Given the description of an element on the screen output the (x, y) to click on. 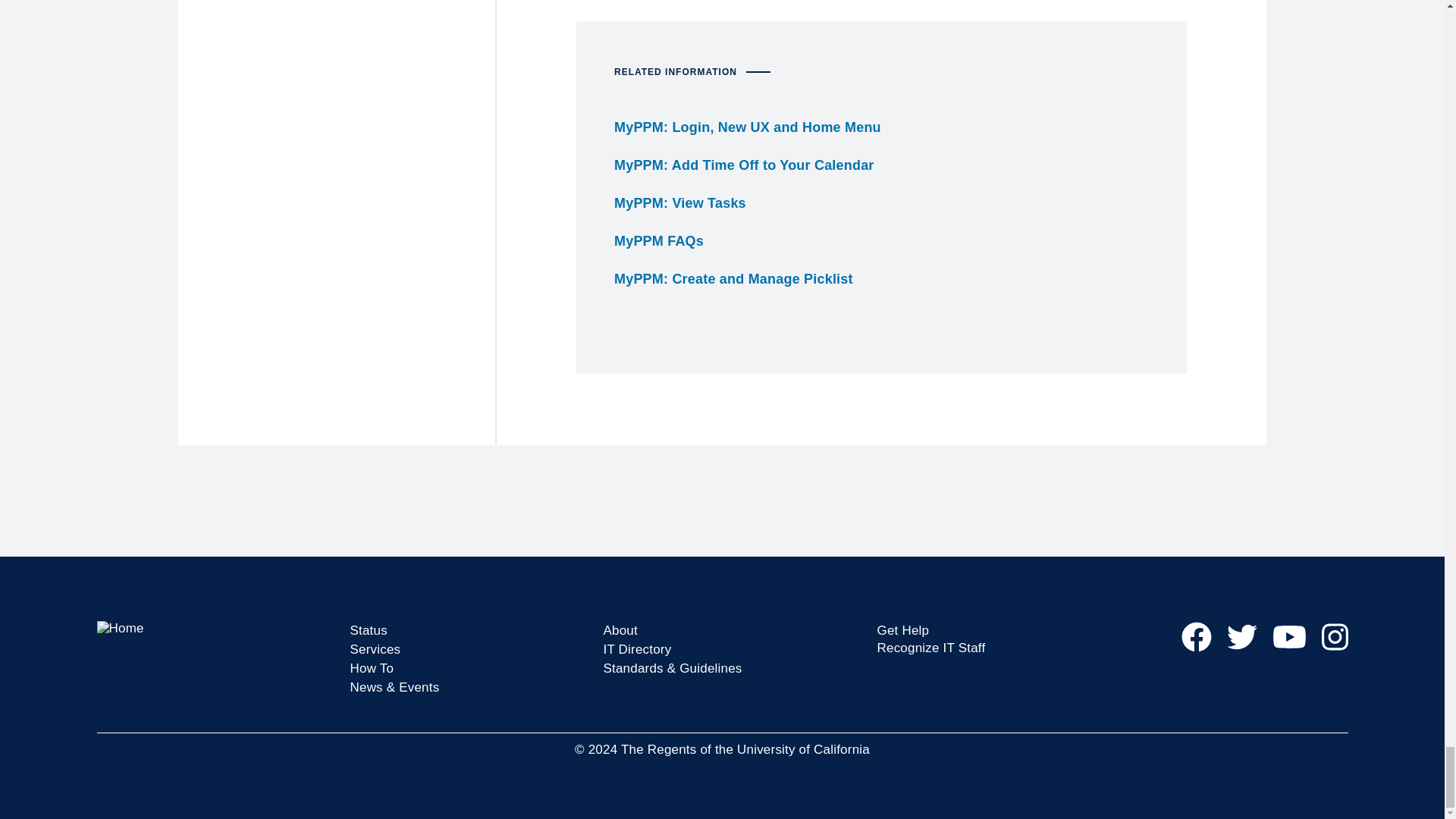
Status (368, 630)
MyPPM: View Tasks (679, 202)
MyPPM: Add Time Off to Your Calendar (744, 165)
How To (372, 667)
Services (375, 649)
MyPPM: Create and Manage Picklist (733, 278)
MyPPM: Login, New UX and Home Menu (747, 127)
Home (215, 628)
MyPPM FAQs (658, 240)
